Given the description of an element on the screen output the (x, y) to click on. 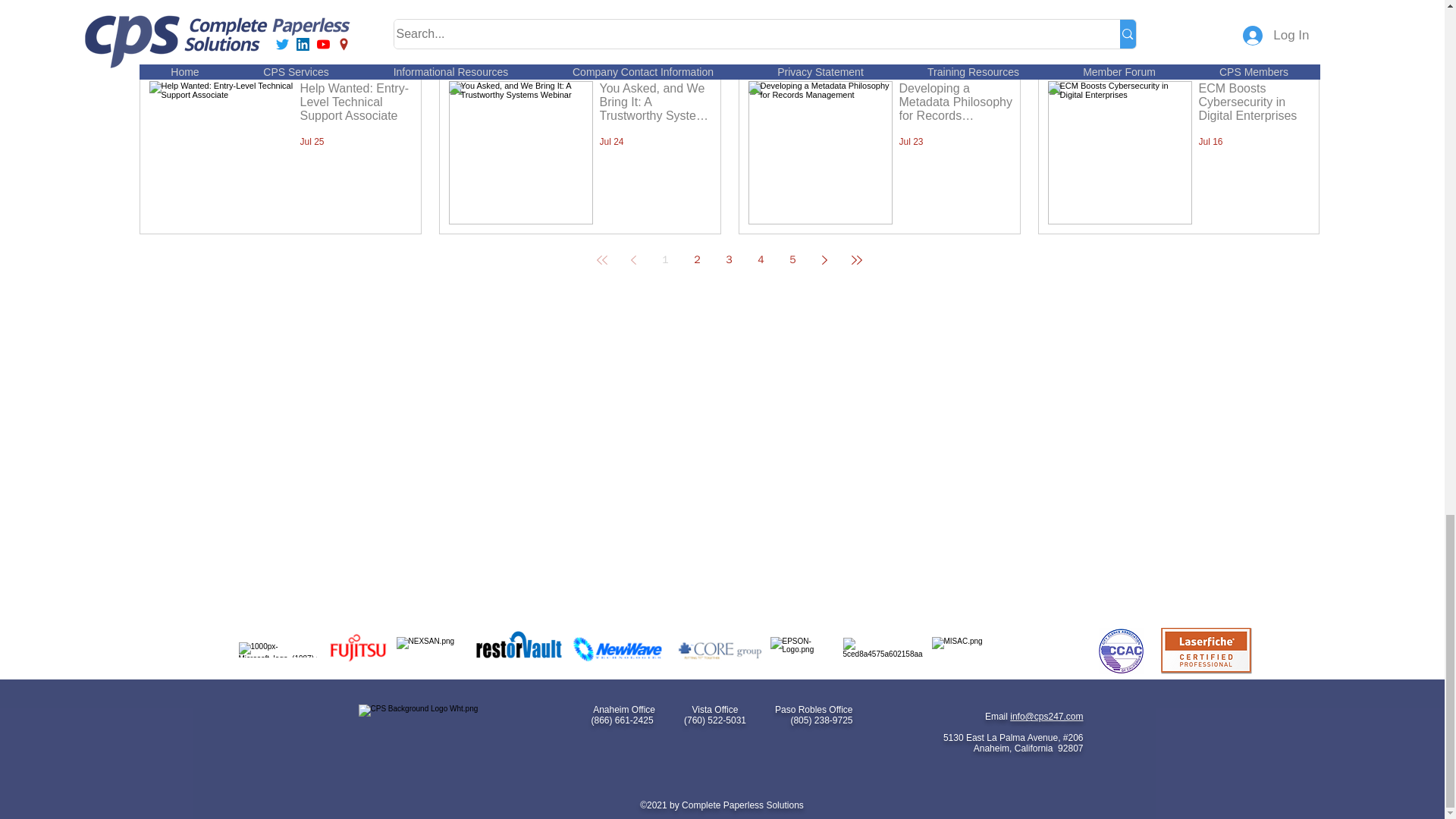
Jul 23 (911, 141)
ECM Boosts Cybersecurity in Digital Enterprises (1254, 104)
2 (697, 259)
4 (761, 259)
Jul 24 (610, 141)
3 (729, 259)
Jul 25 (311, 141)
Help Wanted: Entry-Level Technical Support Associate (356, 104)
5 (792, 259)
You Asked, and We Bring It: A Trustworthy Systems Webinar (655, 104)
